Given the description of an element on the screen output the (x, y) to click on. 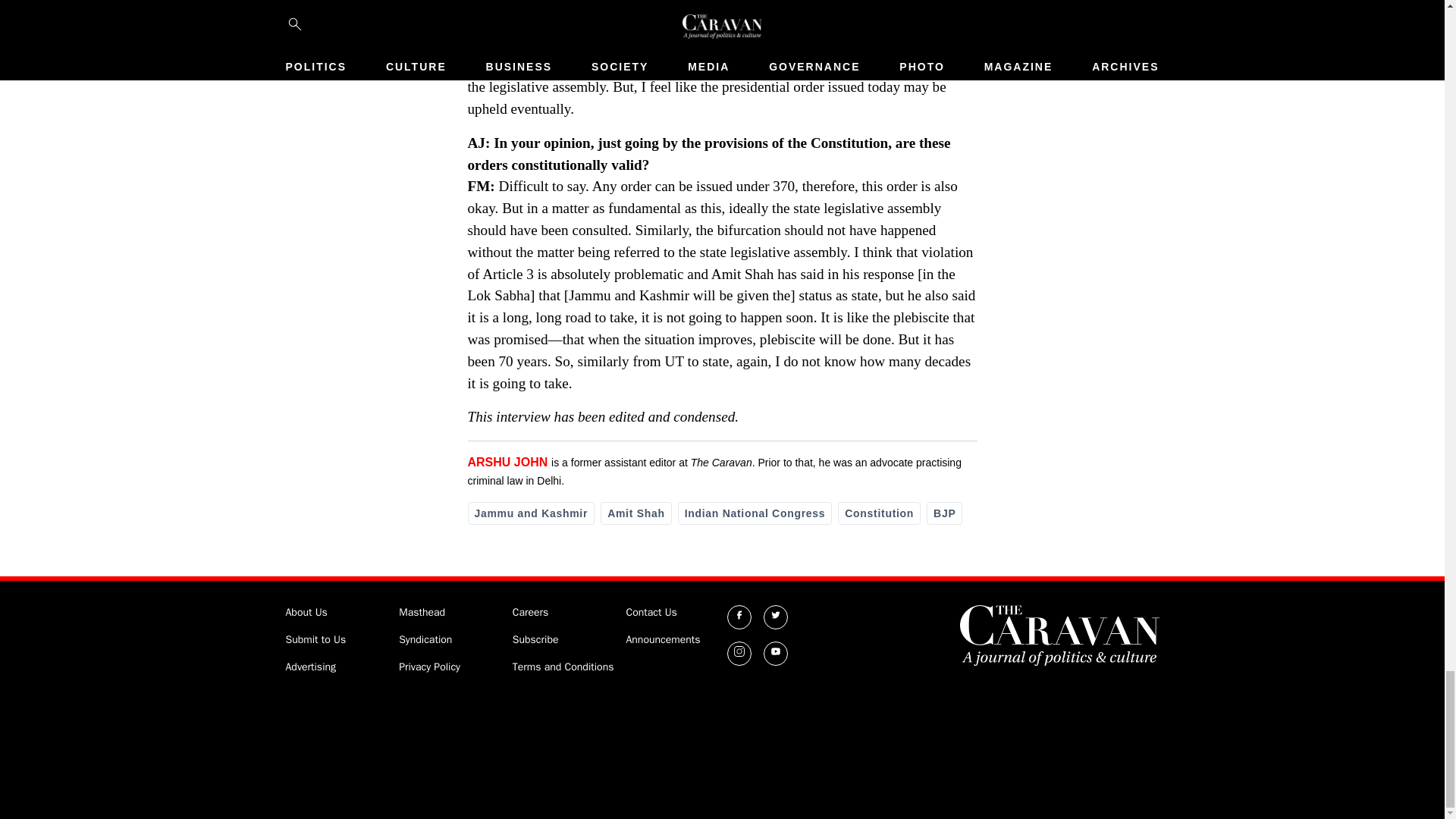
Contact Us (651, 612)
Privacy Policy (429, 666)
Advertising (310, 666)
Subscribe (535, 639)
ARSHU JOHN (507, 461)
Constitution (879, 513)
Indian National Congress (755, 513)
Submit to Us (315, 639)
Syndication (424, 639)
About Us (305, 612)
Announcements (663, 639)
Terms and Conditions (563, 666)
BJP (944, 513)
Careers (530, 612)
Jammu and Kashmir (530, 513)
